Given the description of an element on the screen output the (x, y) to click on. 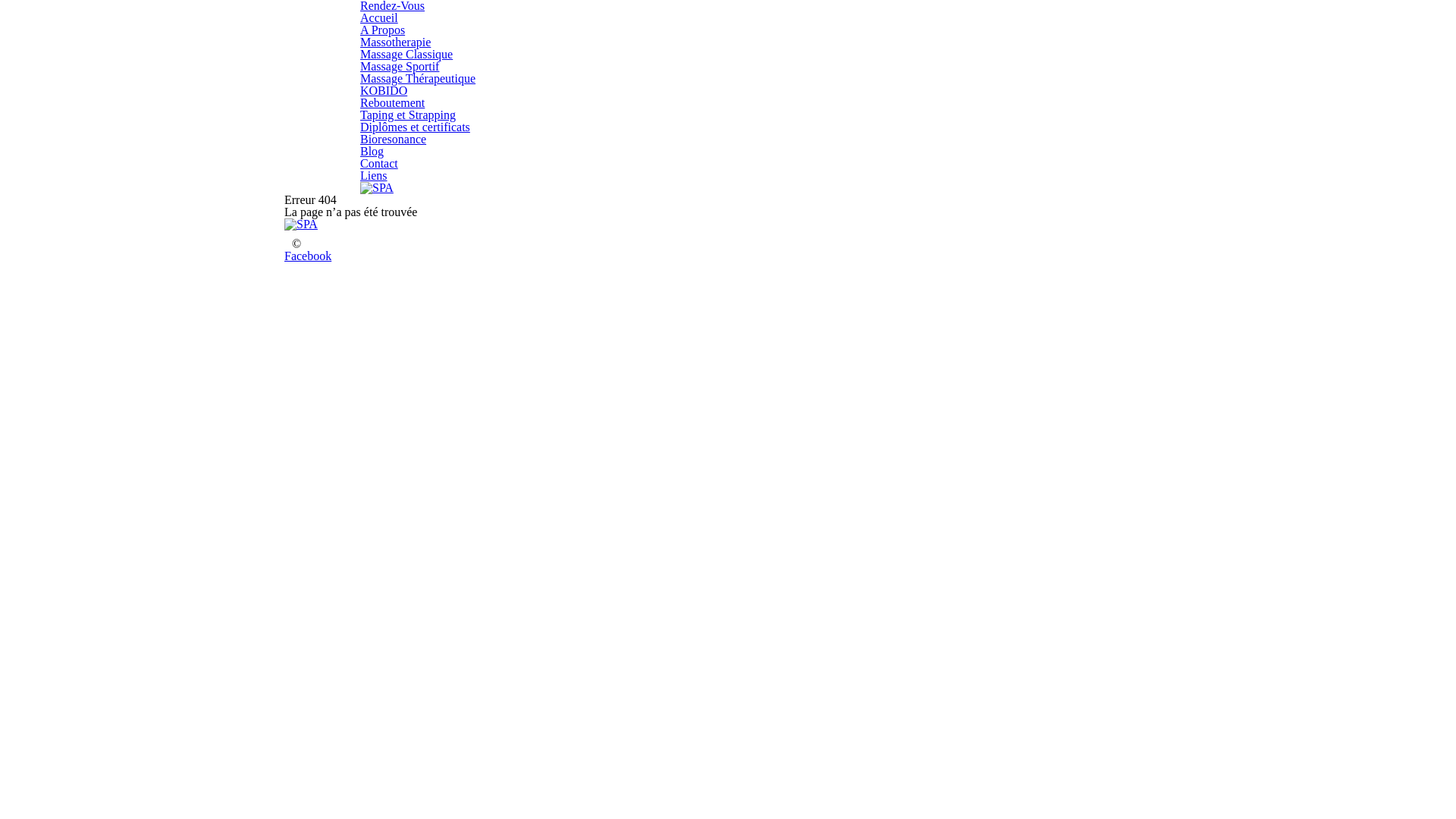
Facebook Element type: text (307, 255)
KOBIDO Element type: text (383, 90)
Liens Element type: text (373, 175)
Taping et Strapping Element type: text (407, 114)
Massage Classique Element type: text (406, 53)
Accueil Element type: text (379, 17)
Blog Element type: text (371, 150)
Massotherapie Element type: text (395, 41)
Reboutement Element type: text (392, 102)
Bioresonance Element type: text (393, 138)
Massage Sportif Element type: text (399, 65)
A Propos Element type: text (382, 29)
Contact Element type: text (379, 162)
